Given the description of an element on the screen output the (x, y) to click on. 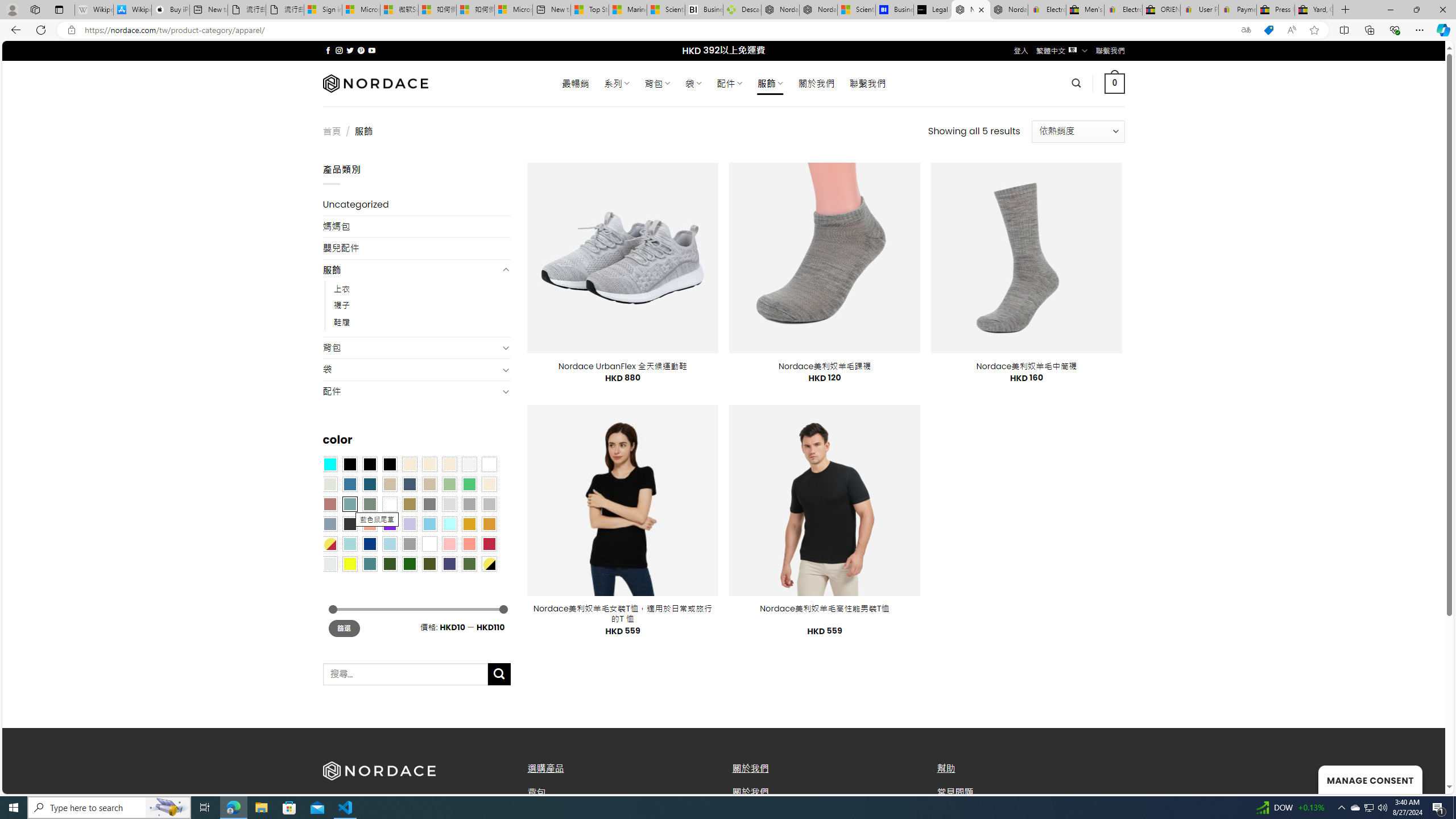
 0  (1115, 83)
Follow on Facebook (327, 50)
Wikipedia - Sleeping (93, 9)
